Given the description of an element on the screen output the (x, y) to click on. 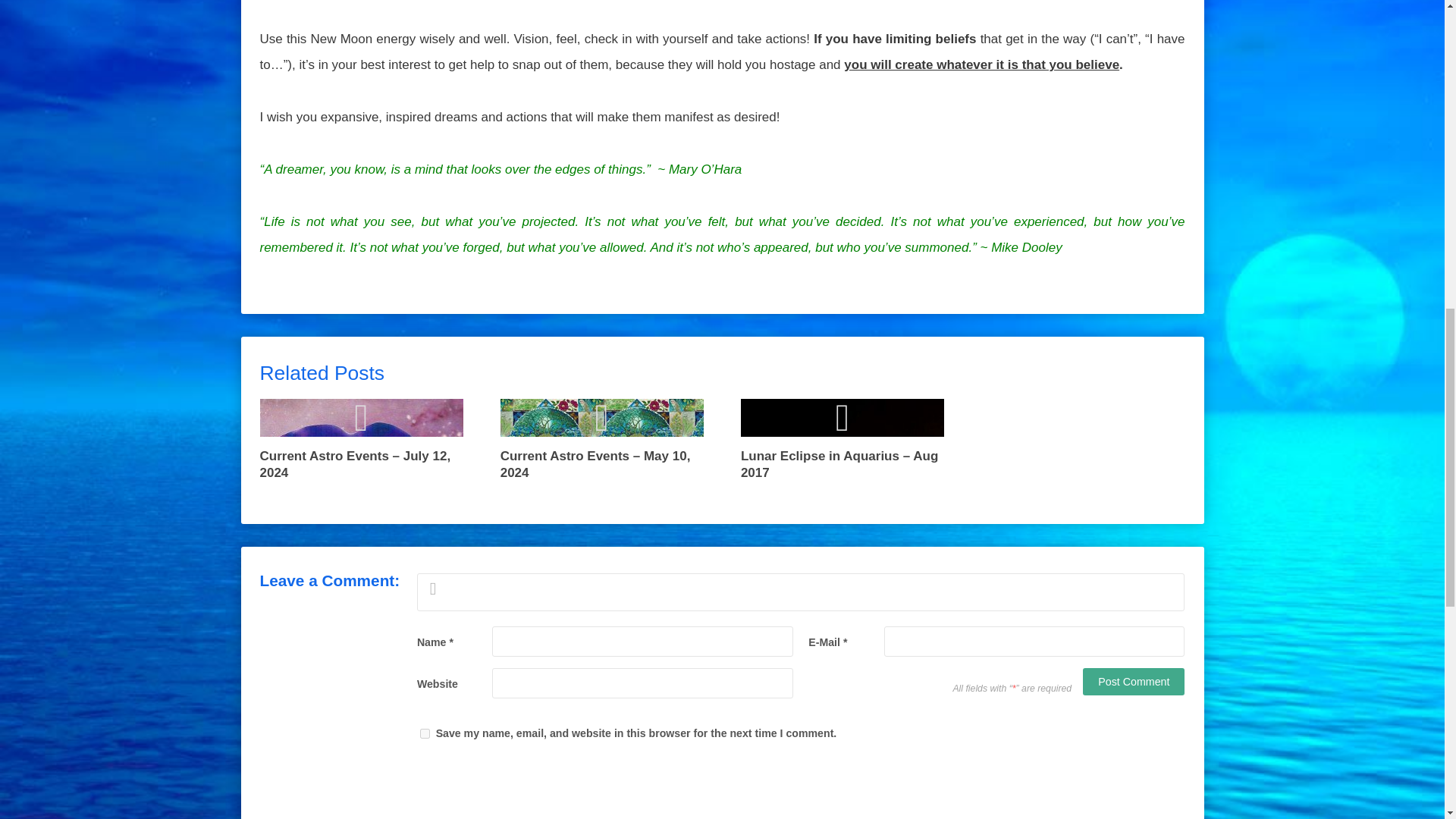
Post Comment (1134, 681)
Post Comment (1134, 681)
yes (424, 733)
